Given the description of an element on the screen output the (x, y) to click on. 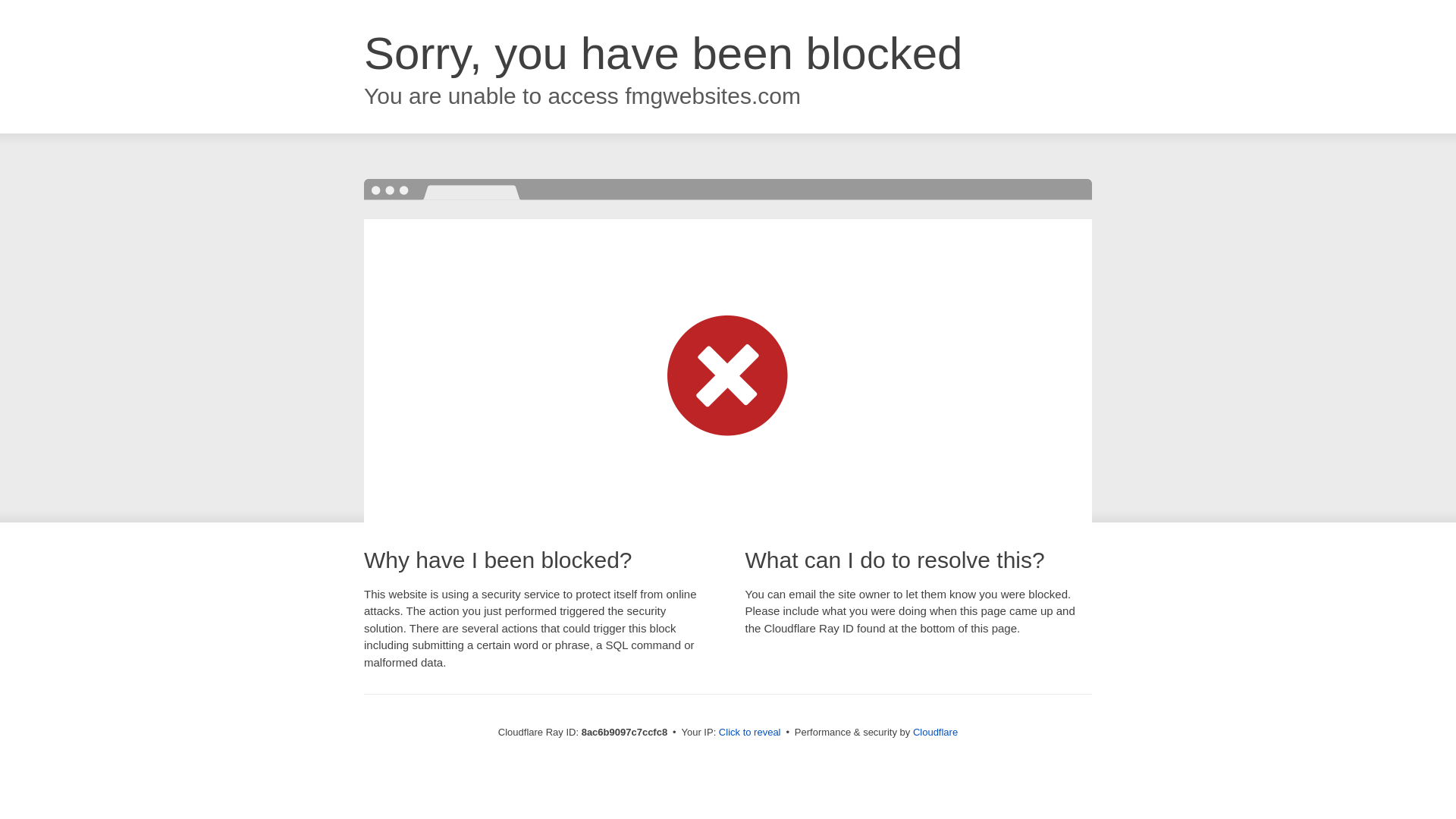
Cloudflare (935, 731)
Click to reveal (749, 732)
